Given the description of an element on the screen output the (x, y) to click on. 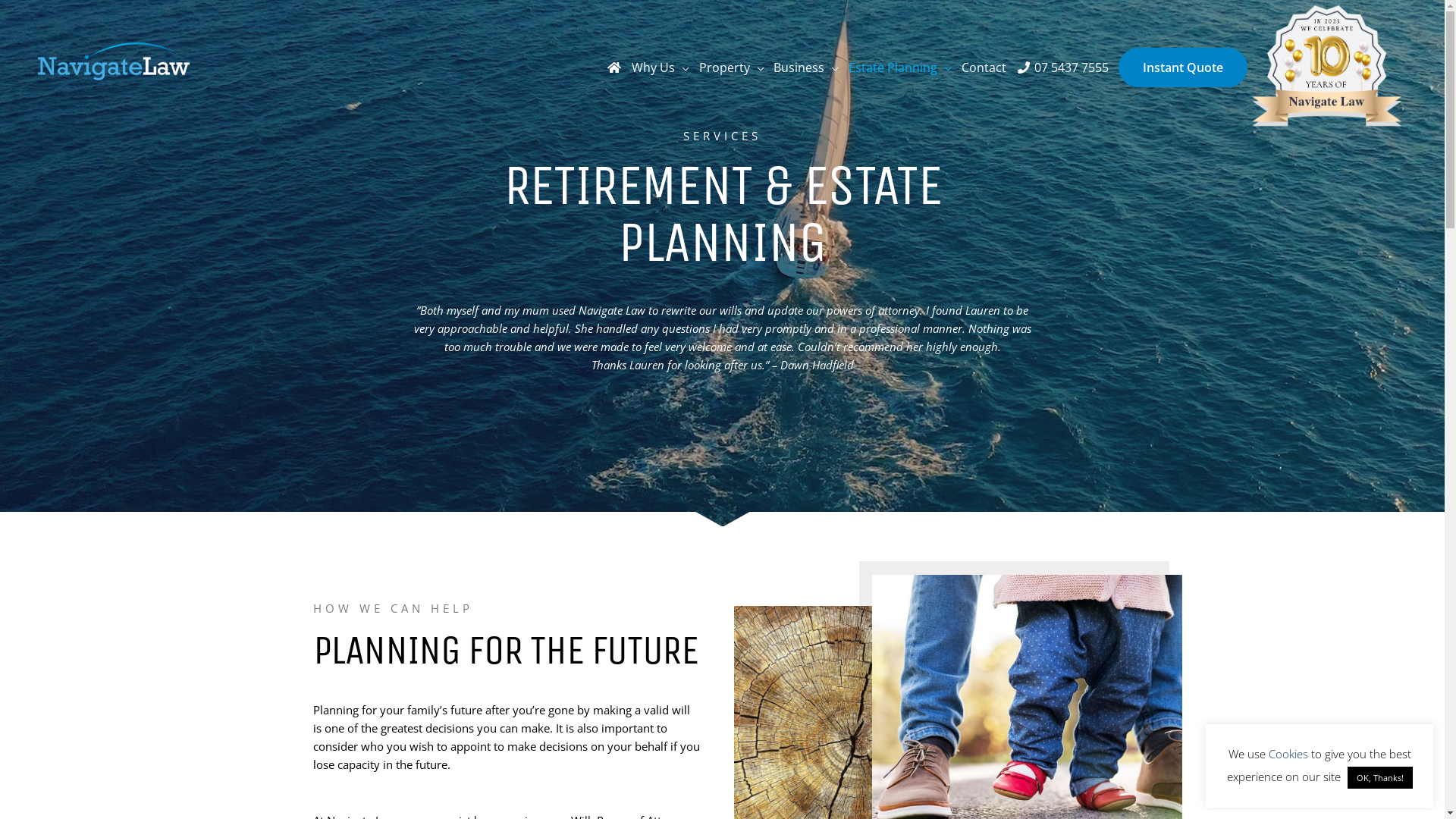
Property Element type: text (730, 66)
Business Element type: text (806, 66)
Instant Quote Element type: text (1182, 67)
Why Us Element type: text (660, 66)
Estate Planning Element type: text (900, 66)
Cookies Element type: text (1287, 753)
Contact Element type: text (984, 66)
Instant Quote Element type: text (1182, 67)
OK, Thanks! Element type: text (1379, 777)
07 5437 7555 Element type: text (1061, 66)
